Given the description of an element on the screen output the (x, y) to click on. 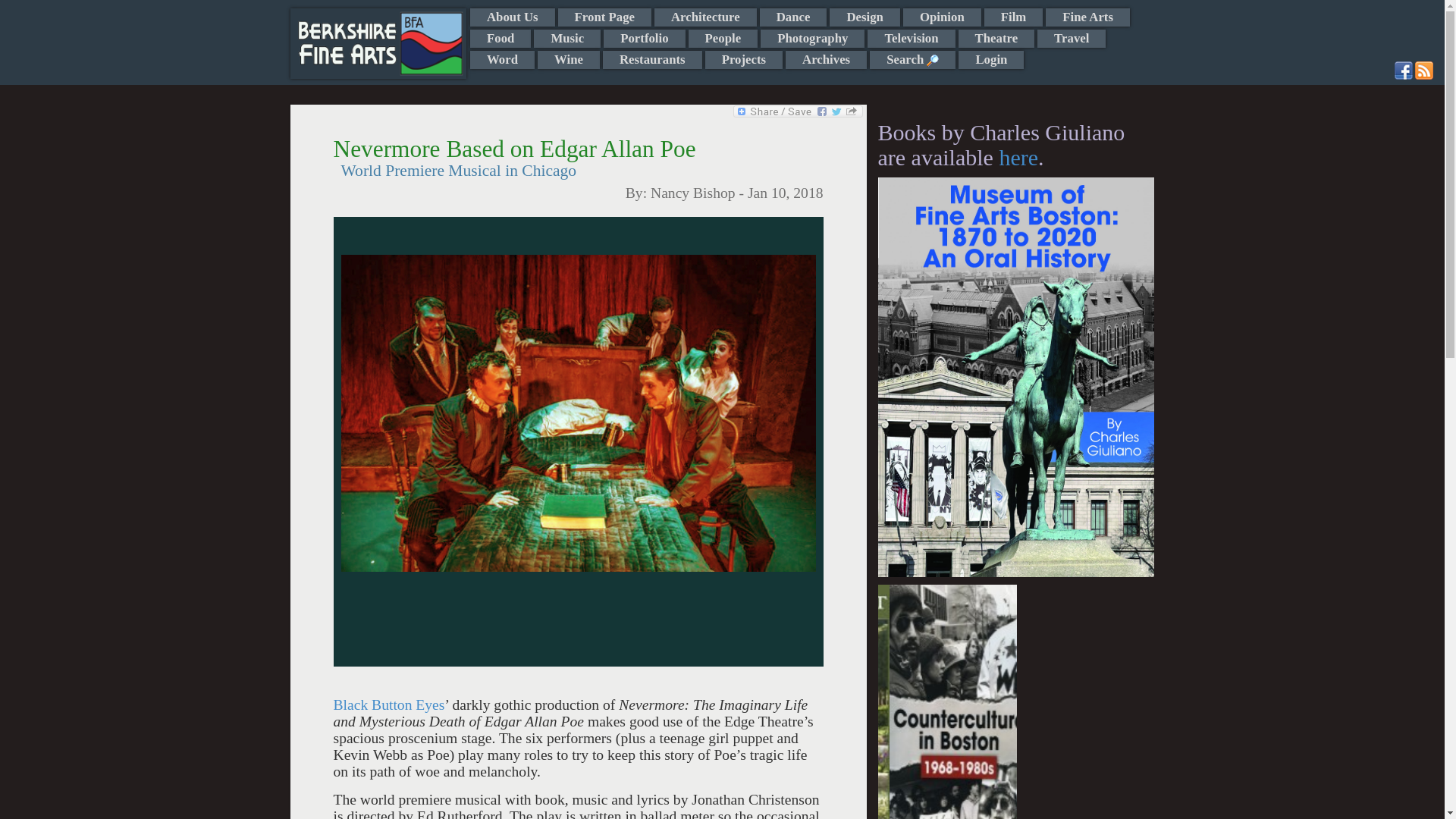
About Us (512, 17)
Film (1013, 17)
Architecture (705, 17)
Opinion (941, 17)
Front Page (603, 17)
Music (566, 38)
Food (500, 38)
Design (864, 17)
Dance (793, 17)
Fine Arts (1087, 17)
